Given the description of an element on the screen output the (x, y) to click on. 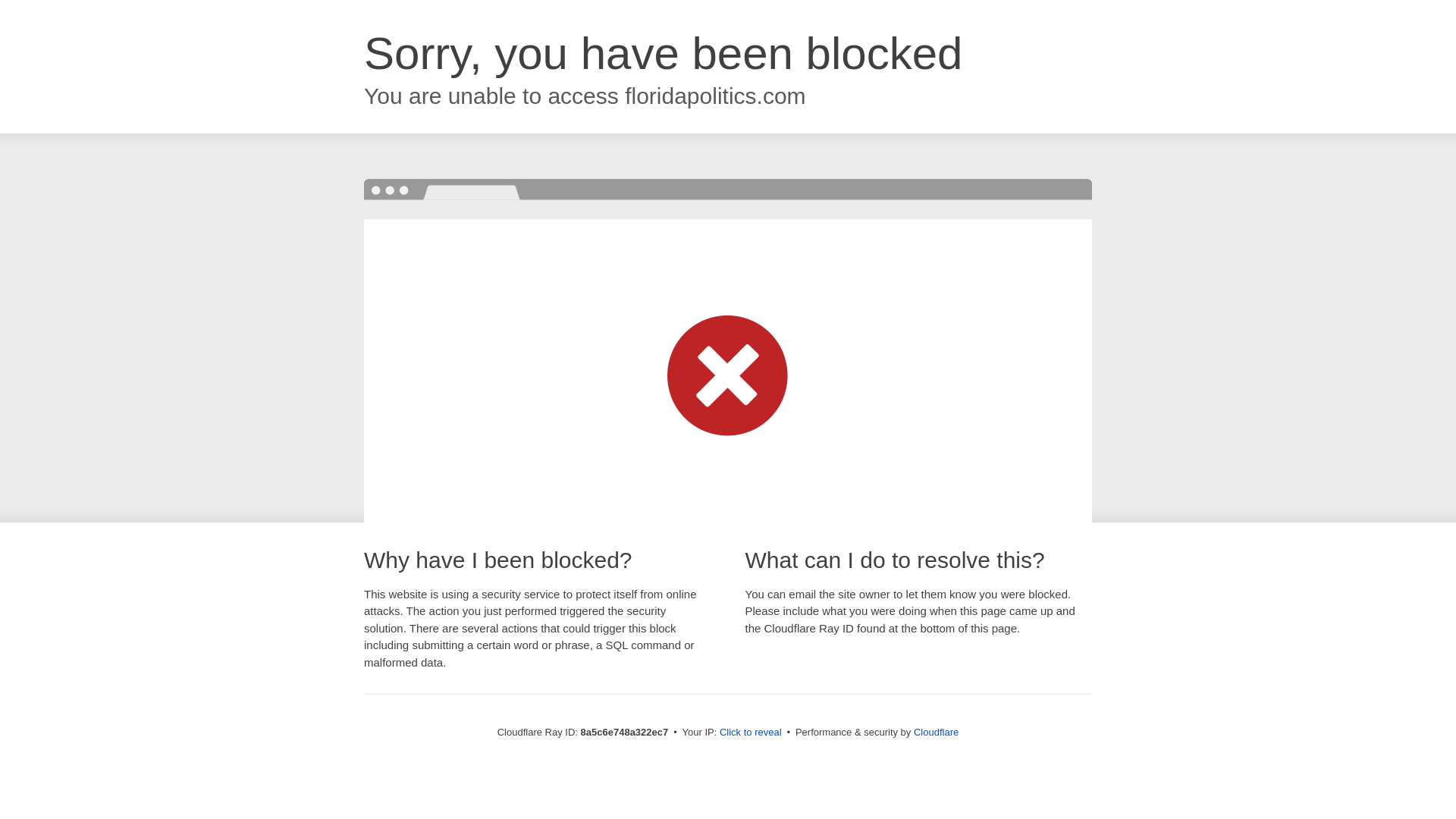
Click to reveal (750, 732)
Cloudflare (936, 731)
